Given the description of an element on the screen output the (x, y) to click on. 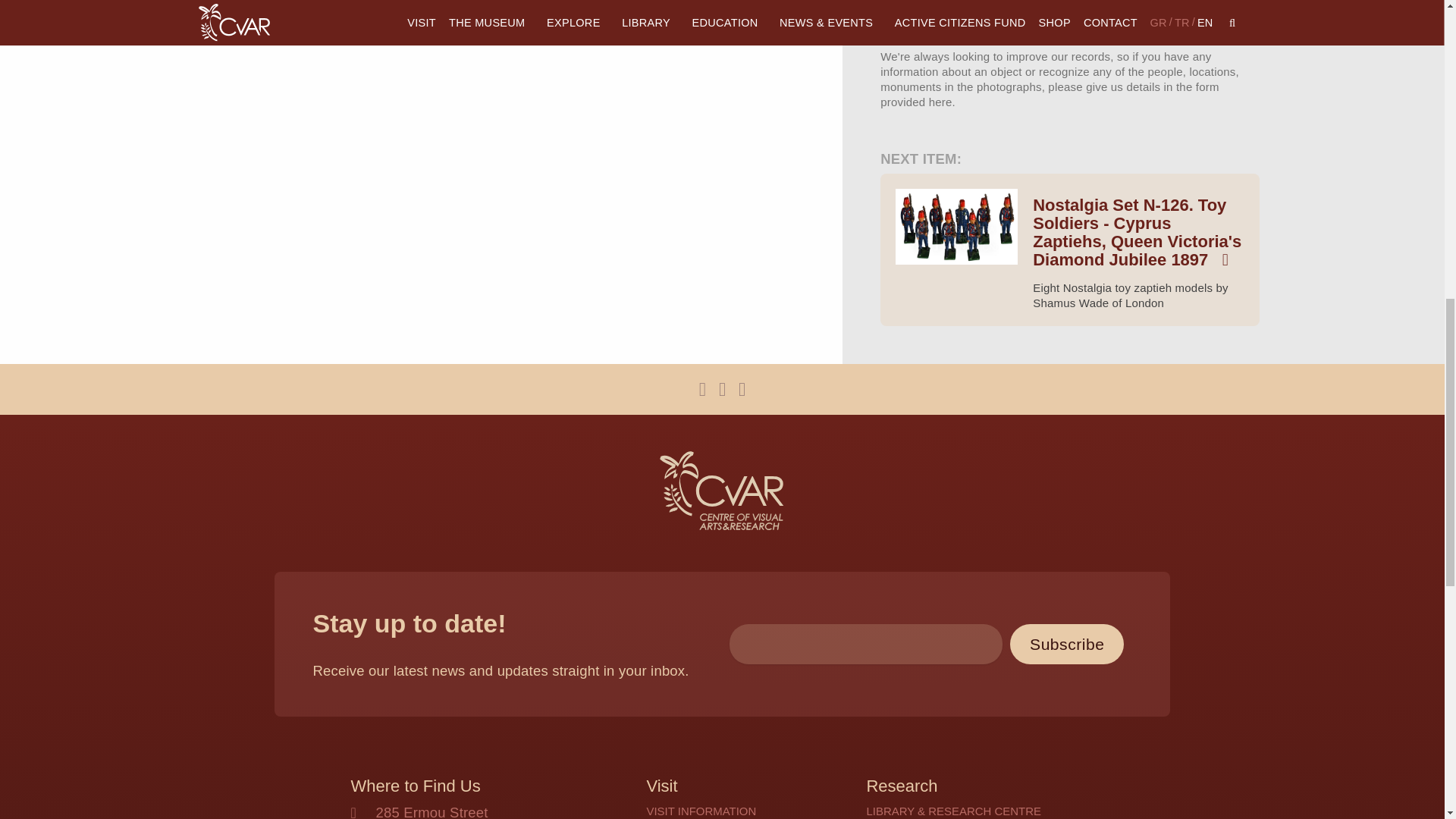
Subscribe (1067, 644)
